Given the description of an element on the screen output the (x, y) to click on. 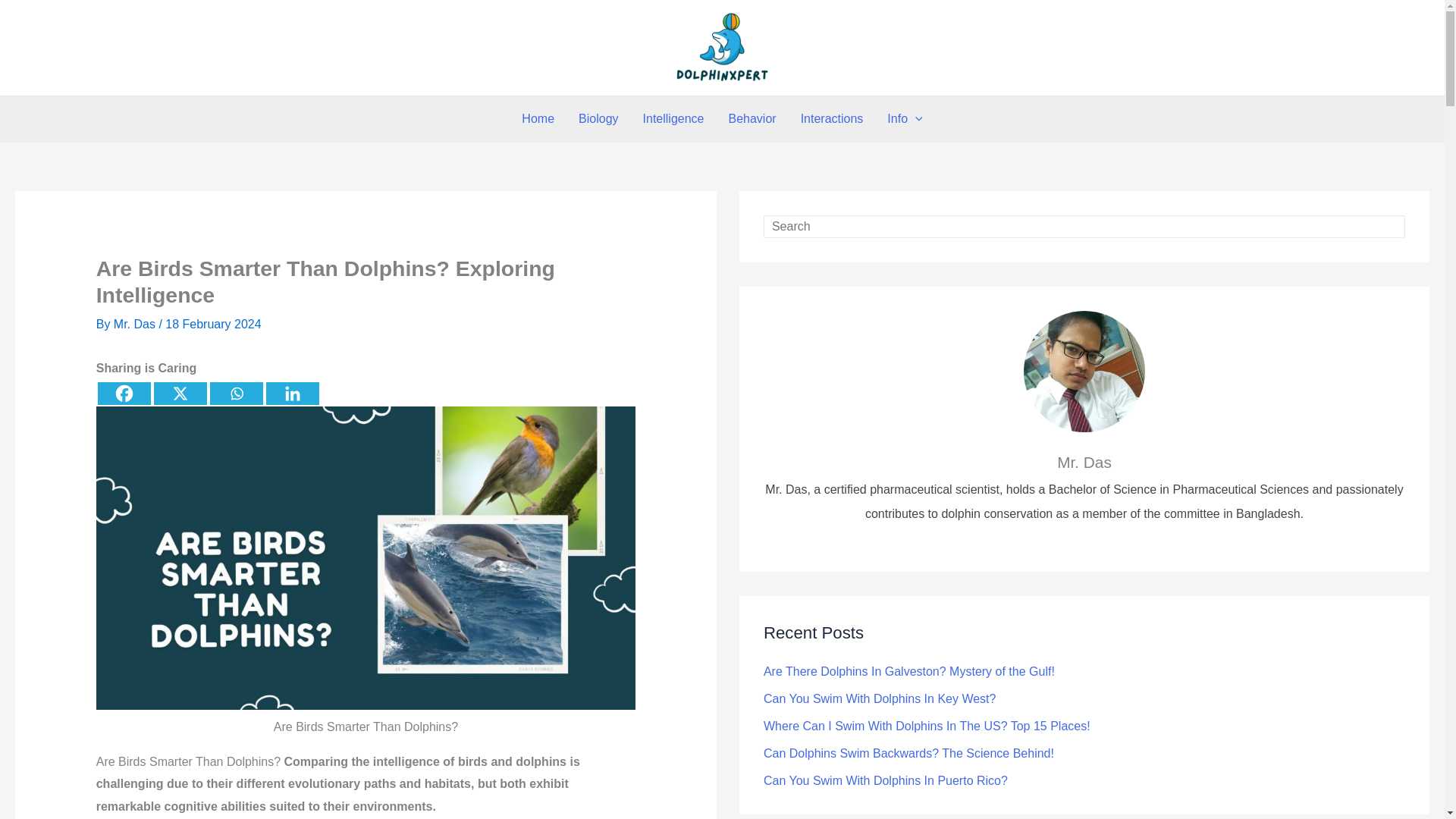
Info (904, 118)
Interactions (832, 118)
Whatsapp (236, 393)
Facebook (124, 393)
X (180, 393)
Behavior (751, 118)
Intelligence (673, 118)
Linkedin (292, 393)
View all posts by Mr. Das (135, 323)
Home (537, 118)
